Given the description of an element on the screen output the (x, y) to click on. 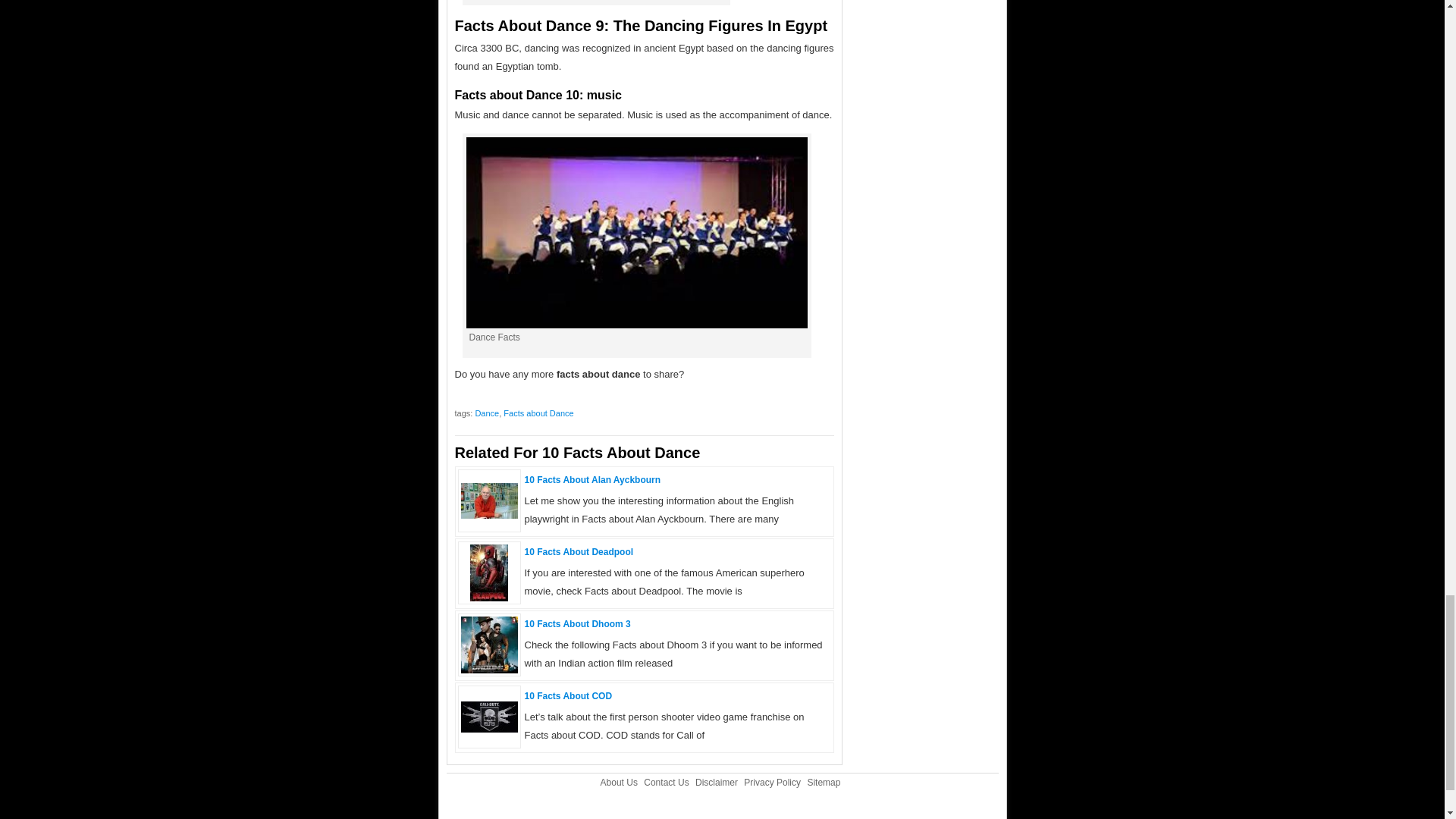
10 Facts About Deadpool (578, 552)
10 Facts about COD (489, 728)
10 Facts About Alan Ayckbourn (592, 480)
10 Facts About COD (568, 696)
10 Facts about Deadpool (578, 552)
10 Facts About Dhoom 3 (577, 624)
10 Facts about Alan Ayckbourn (592, 480)
10 Facts about Dhoom 3 (489, 669)
10 Facts about Dhoom 3 (577, 624)
10 Facts about Deadpool (489, 597)
